Given the description of an element on the screen output the (x, y) to click on. 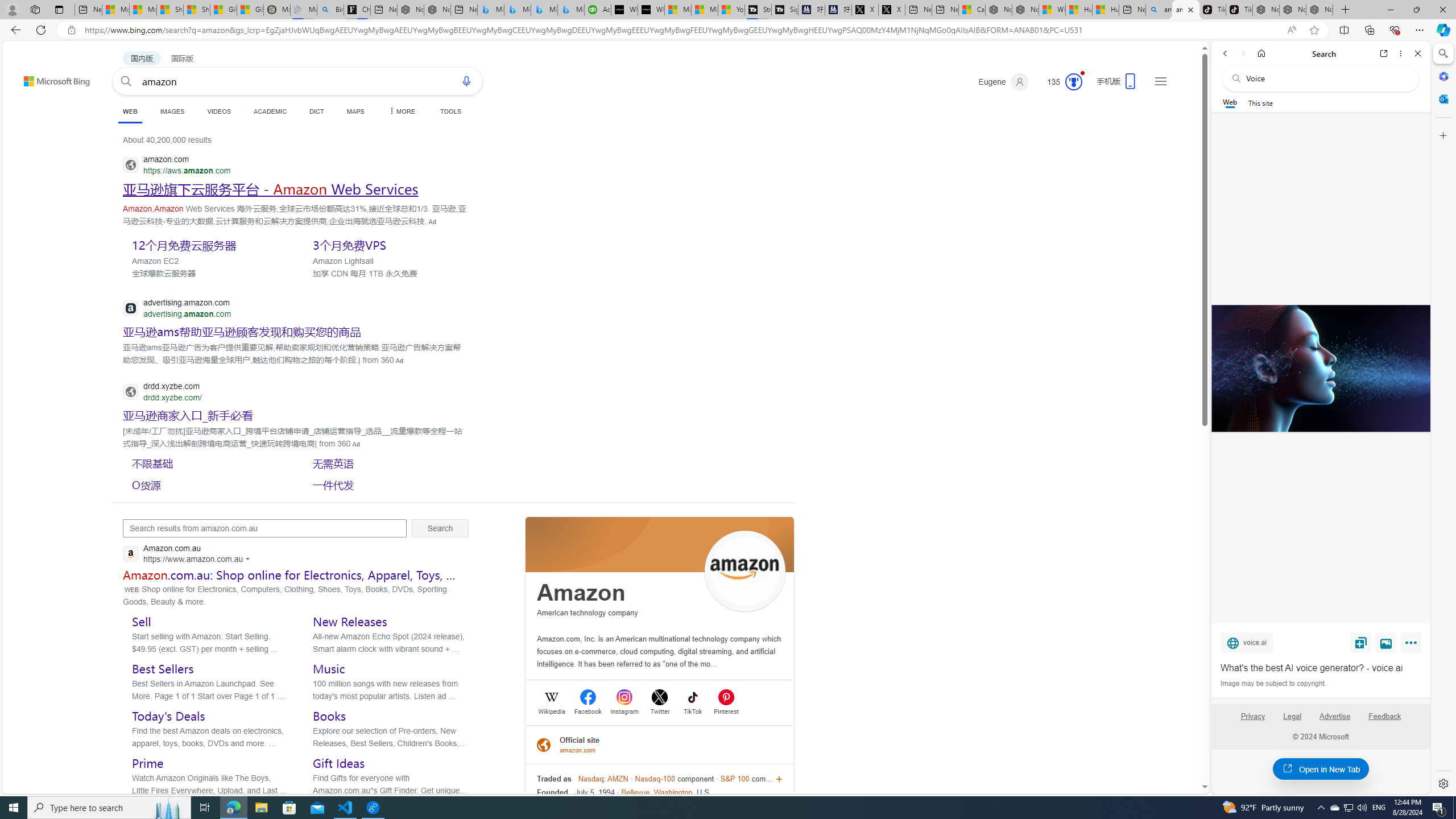
Dropdown Menu (400, 111)
Microsoft Rewards 135 (1059, 81)
TikTok (1239, 9)
Image may be subject to copyright. (1273, 682)
Pinterest (726, 710)
Sell (141, 621)
View image (1385, 642)
Eugene (1003, 81)
Save (1361, 642)
TOOLS (450, 111)
